Given the description of an element on the screen output the (x, y) to click on. 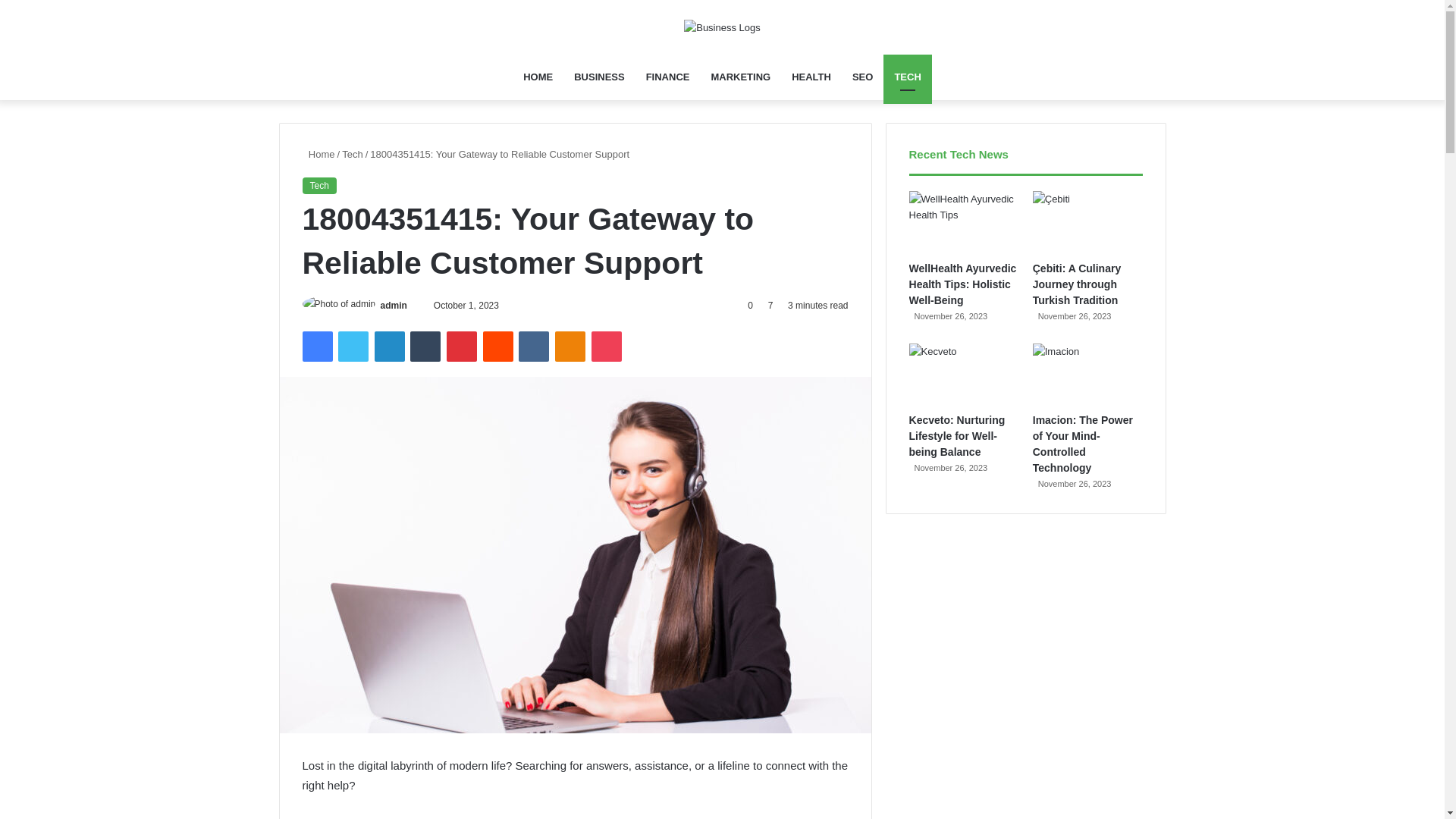
LinkedIn (389, 346)
admin (393, 305)
Odnoklassniki (569, 346)
Pocket (606, 346)
Tumblr (425, 346)
Pocket (606, 346)
LinkedIn (389, 346)
Odnoklassniki (569, 346)
Facebook (316, 346)
Reddit (498, 346)
